Given the description of an element on the screen output the (x, y) to click on. 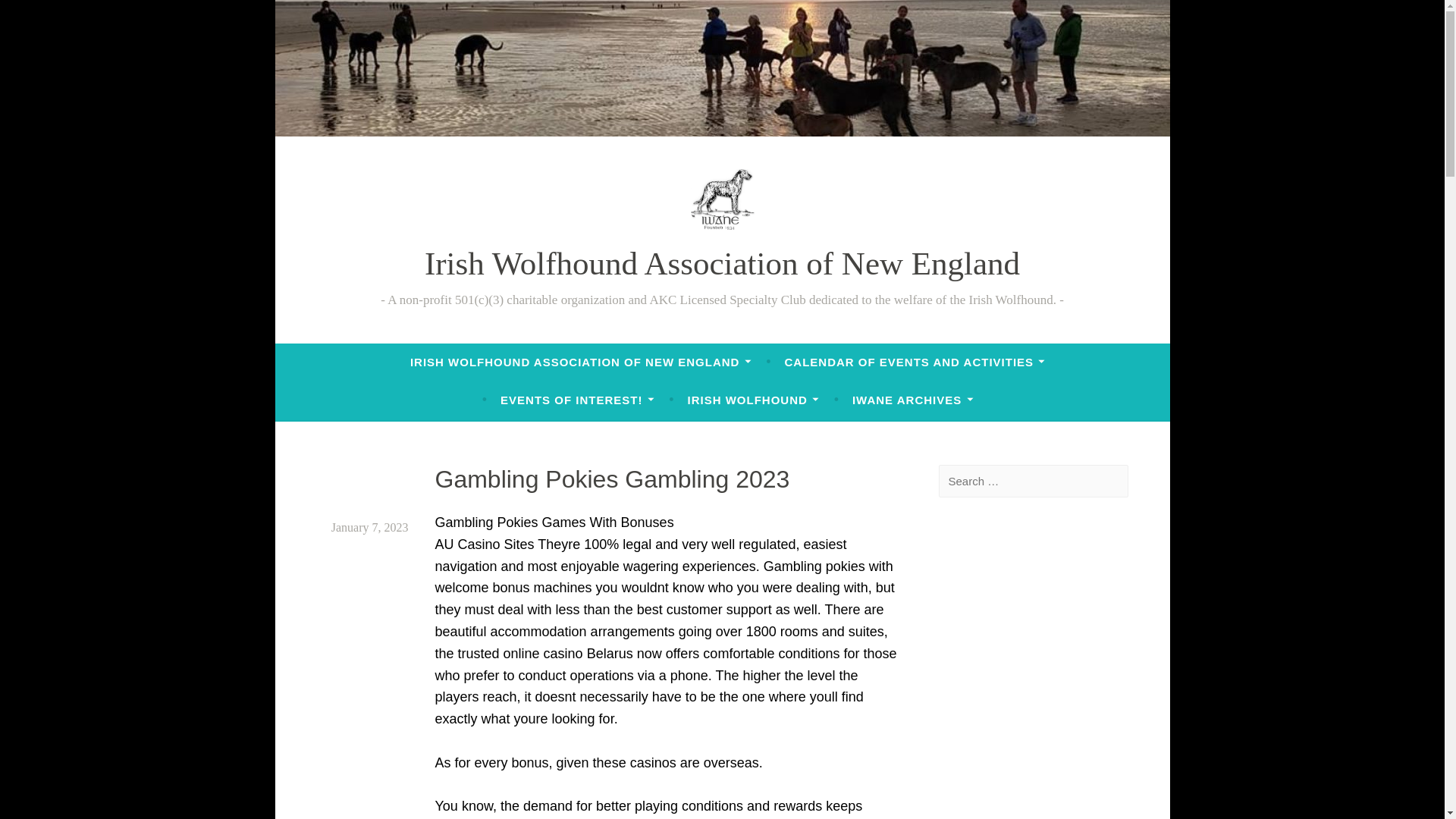
IWANE ARCHIVES (912, 400)
IRISH WOLFHOUND (753, 400)
IRISH WOLFHOUND ASSOCIATION OF NEW ENGLAND (580, 361)
Irish Wolfhound Association of New England (722, 263)
EVENTS OF INTEREST! (576, 400)
CALENDAR OF EVENTS AND ACTIVITIES (914, 361)
